Given the description of an element on the screen output the (x, y) to click on. 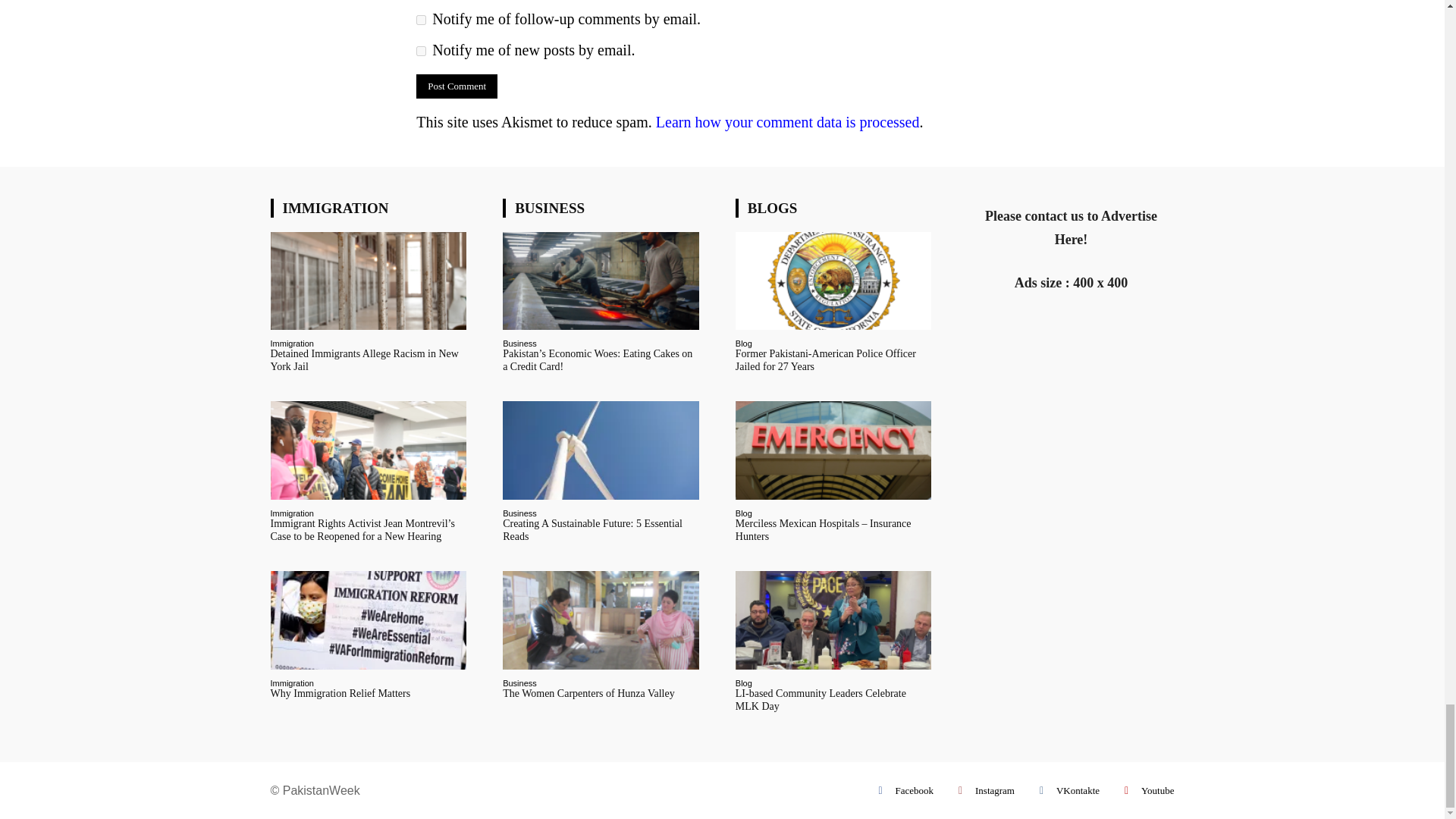
Post Comment (456, 86)
subscribe (421, 20)
subscribe (421, 50)
